Given the description of an element on the screen output the (x, y) to click on. 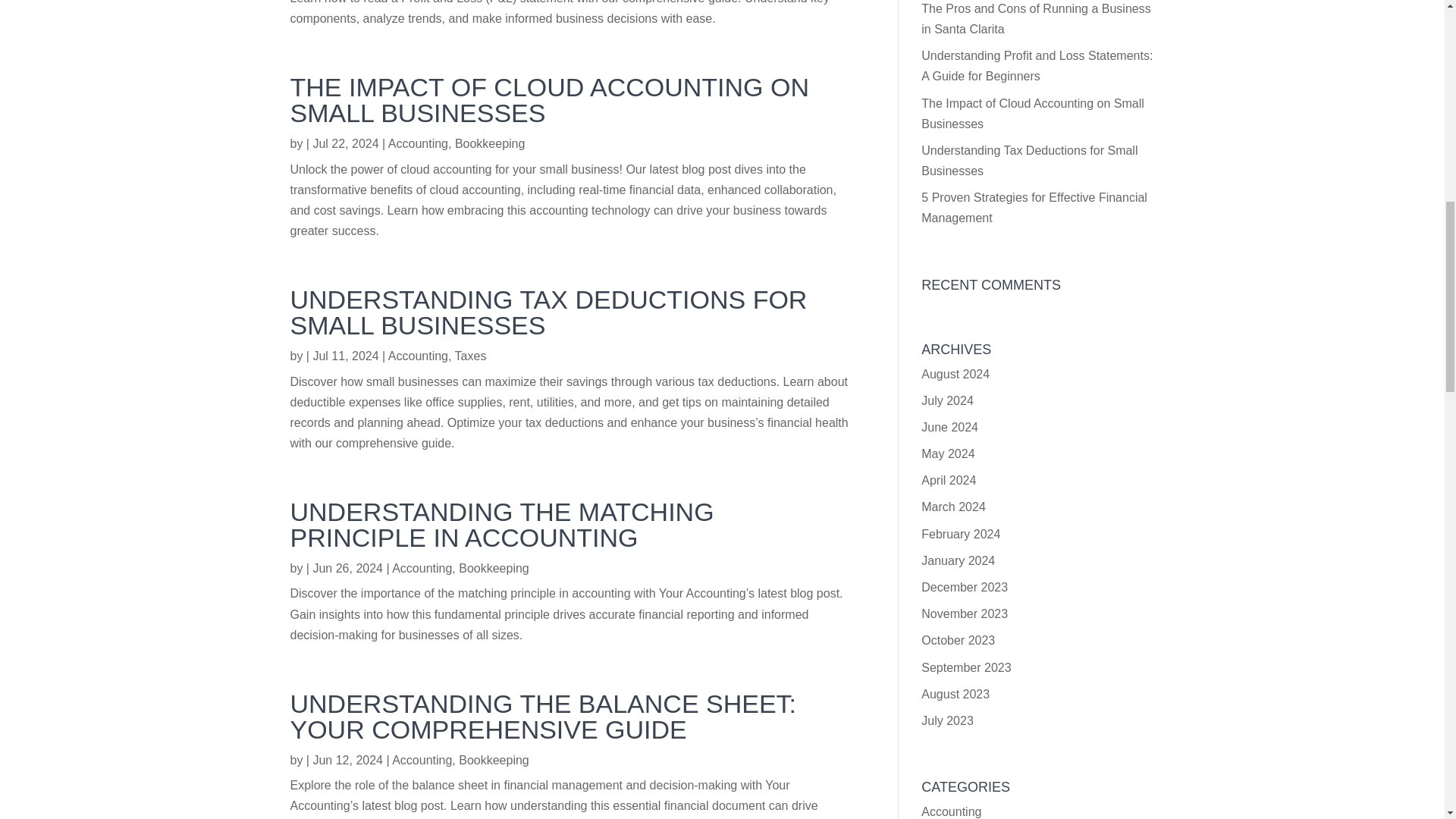
Accounting (421, 759)
UNDERSTANDING THE BALANCE SHEET: YOUR COMPREHENSIVE GUIDE (542, 716)
UNDERSTANDING TAX DEDUCTIONS FOR SMALL BUSINESSES (547, 312)
Taxes (470, 355)
Accounting (418, 143)
UNDERSTANDING THE MATCHING PRINCIPLE IN ACCOUNTING (501, 524)
Bookkeeping (489, 143)
Accounting (418, 355)
THE IMPACT OF CLOUD ACCOUNTING ON SMALL BUSINESSES (548, 99)
Bookkeeping (493, 567)
